Given the description of an element on the screen output the (x, y) to click on. 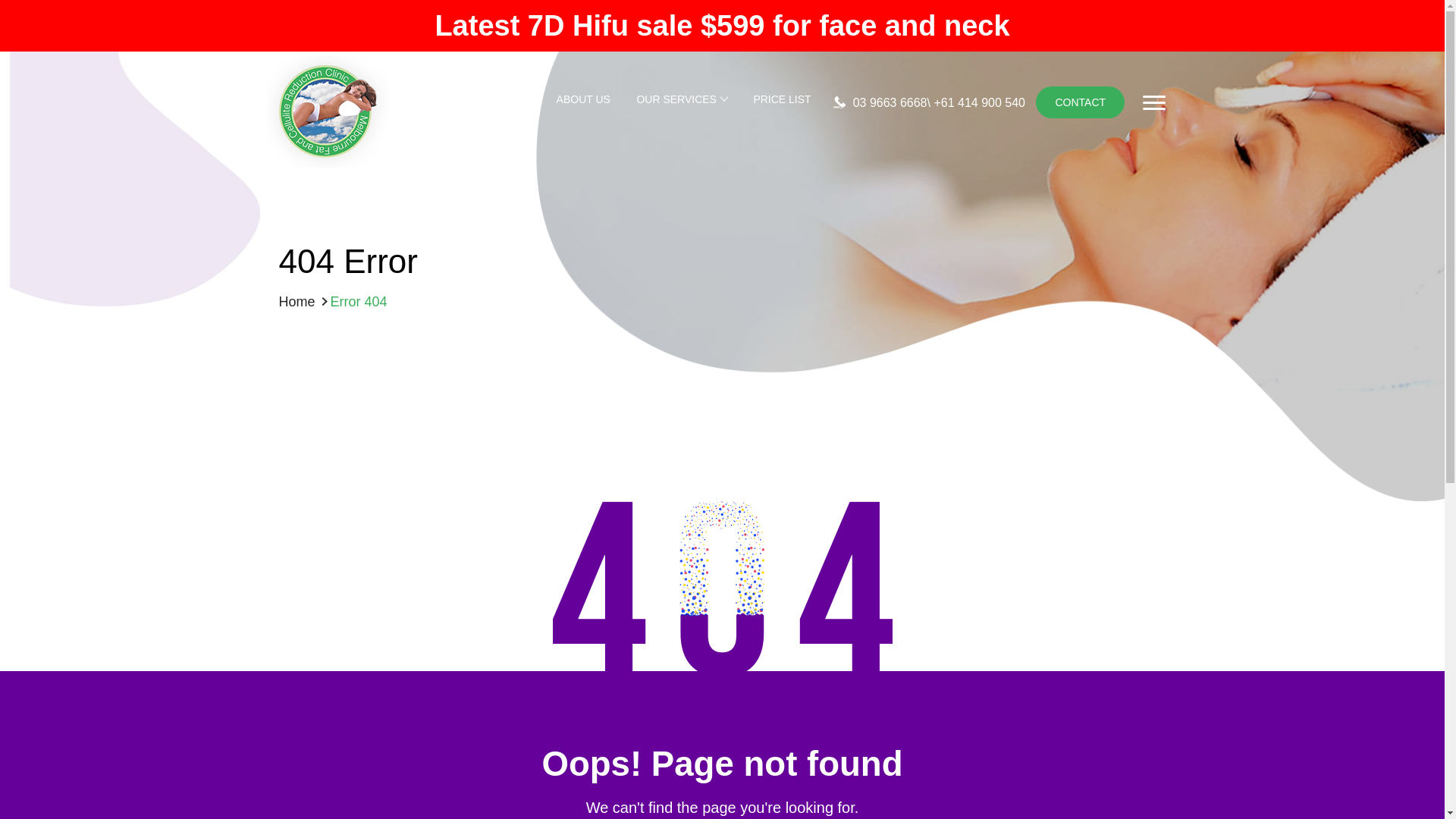
OUR SERVICES (681, 102)
Melbourne Fat and Cellulite Reduction Clinic (327, 163)
Contact (1079, 101)
PRICE LIST (781, 102)
Home (297, 301)
ABOUT US (583, 102)
CONTACT (1079, 101)
